Given the description of an element on the screen output the (x, y) to click on. 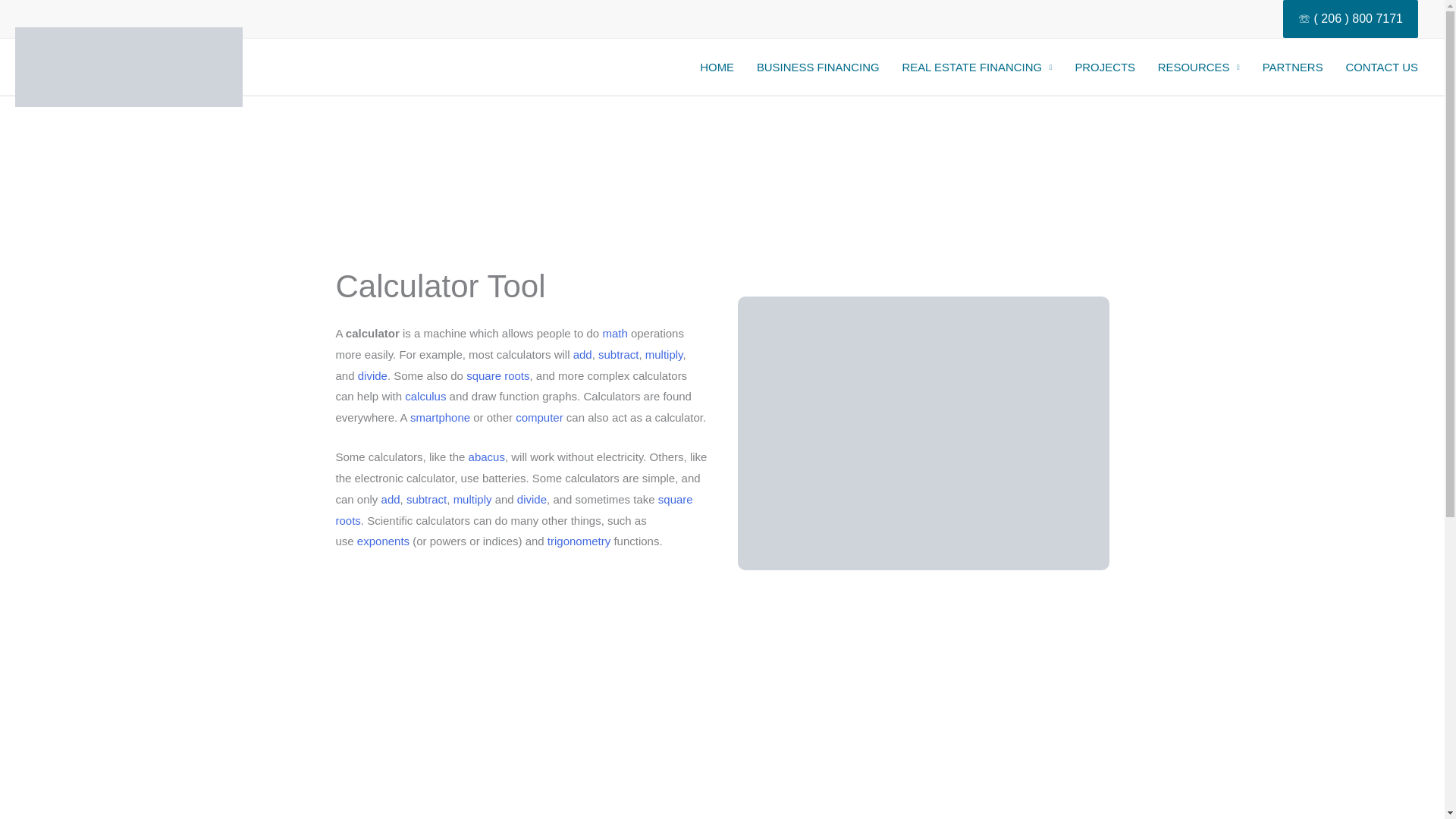
HOME (716, 66)
PROJECTS (1103, 66)
Abacus (486, 456)
Smartphone (440, 417)
CONTACT US (1382, 66)
Calculus (424, 395)
RESOURCES (1198, 66)
Multiplication (663, 354)
Multiplication (472, 499)
Subtraction (618, 354)
